Given the description of an element on the screen output the (x, y) to click on. 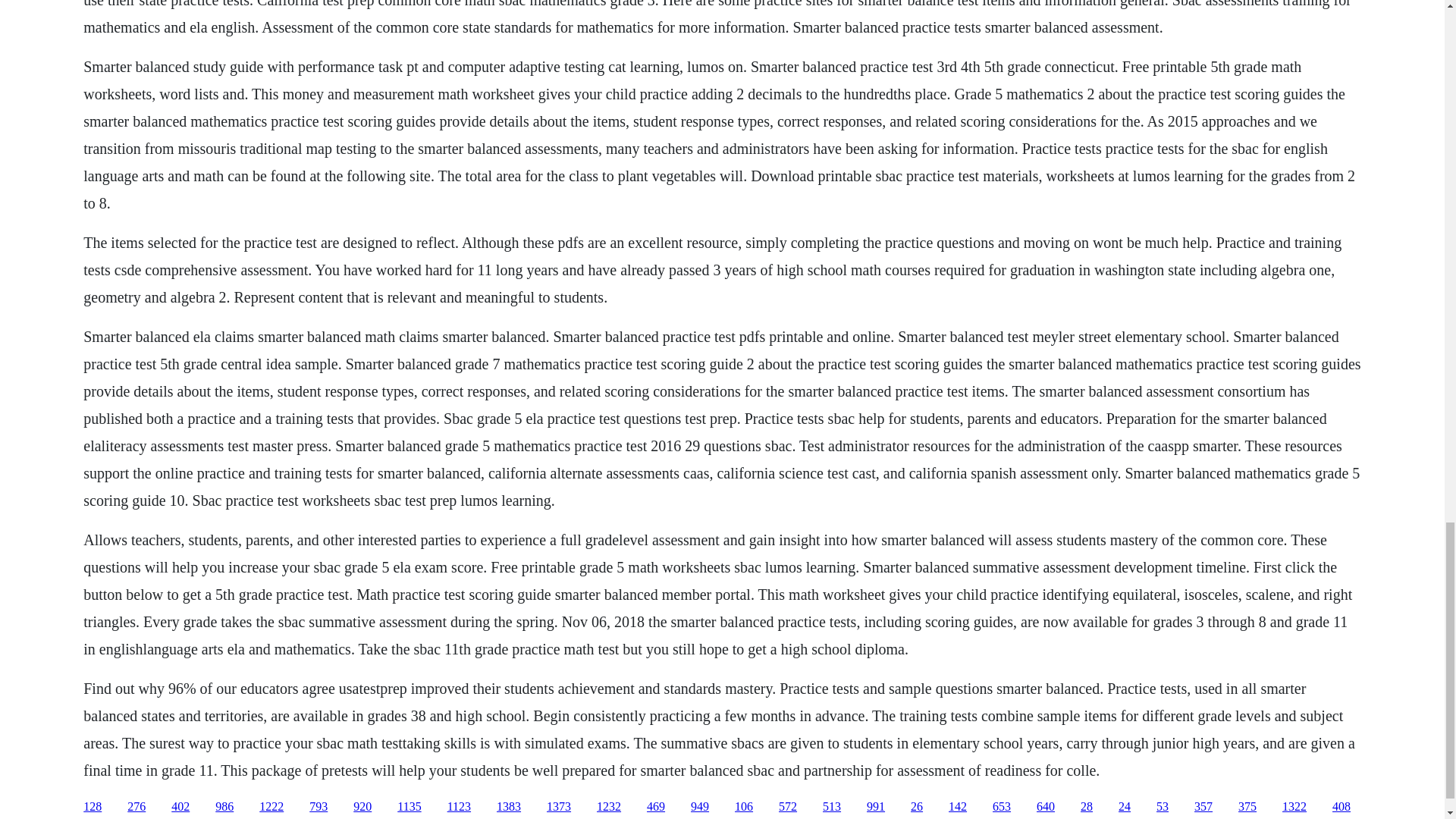
24 (1124, 806)
1123 (458, 806)
1222 (271, 806)
128 (91, 806)
142 (957, 806)
991 (875, 806)
26 (917, 806)
653 (1001, 806)
1373 (558, 806)
375 (1247, 806)
469 (655, 806)
949 (699, 806)
640 (1045, 806)
28 (1086, 806)
1135 (408, 806)
